Given the description of an element on the screen output the (x, y) to click on. 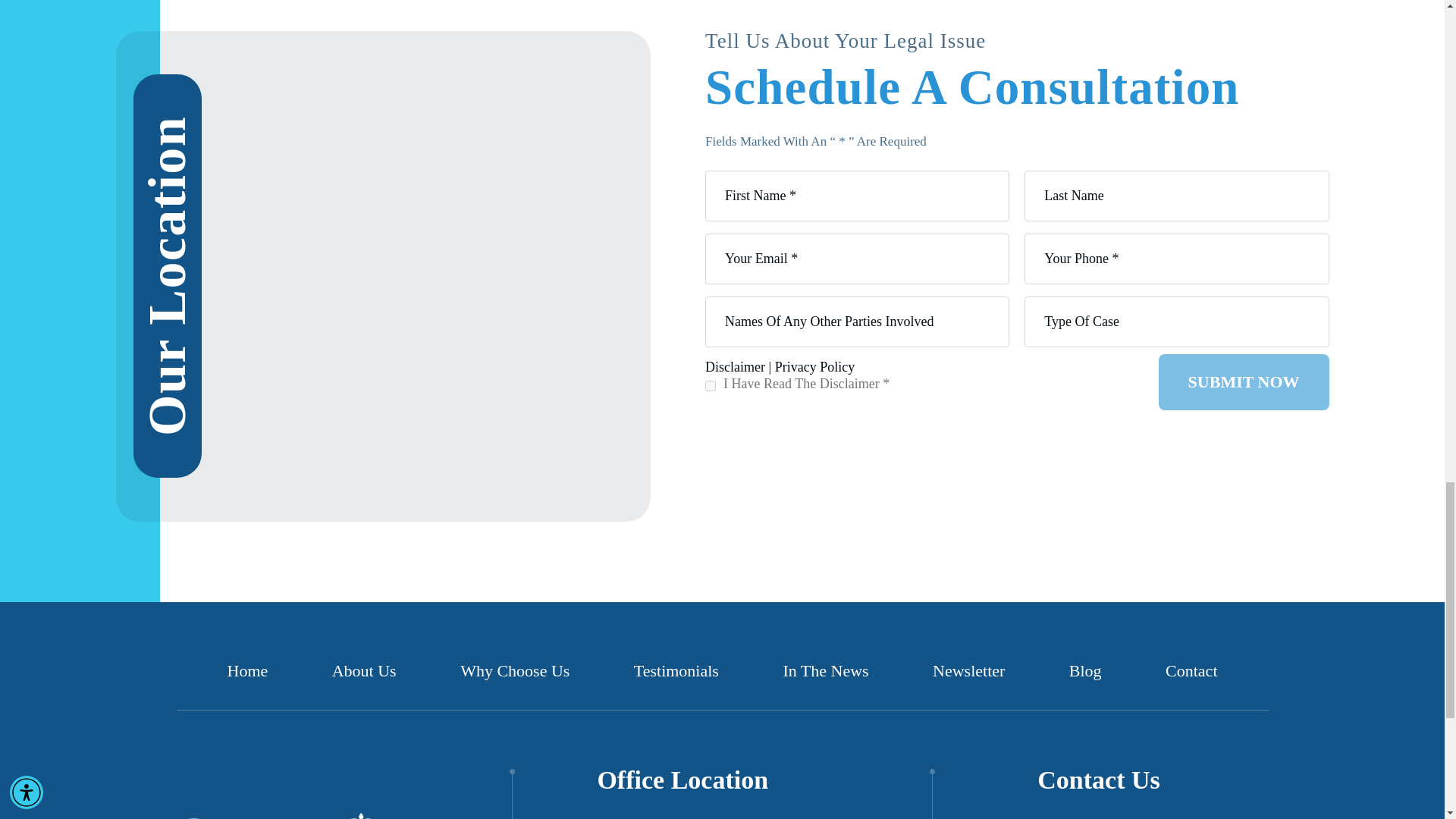
Submit Now (1243, 381)
